Given the description of an element on the screen output the (x, y) to click on. 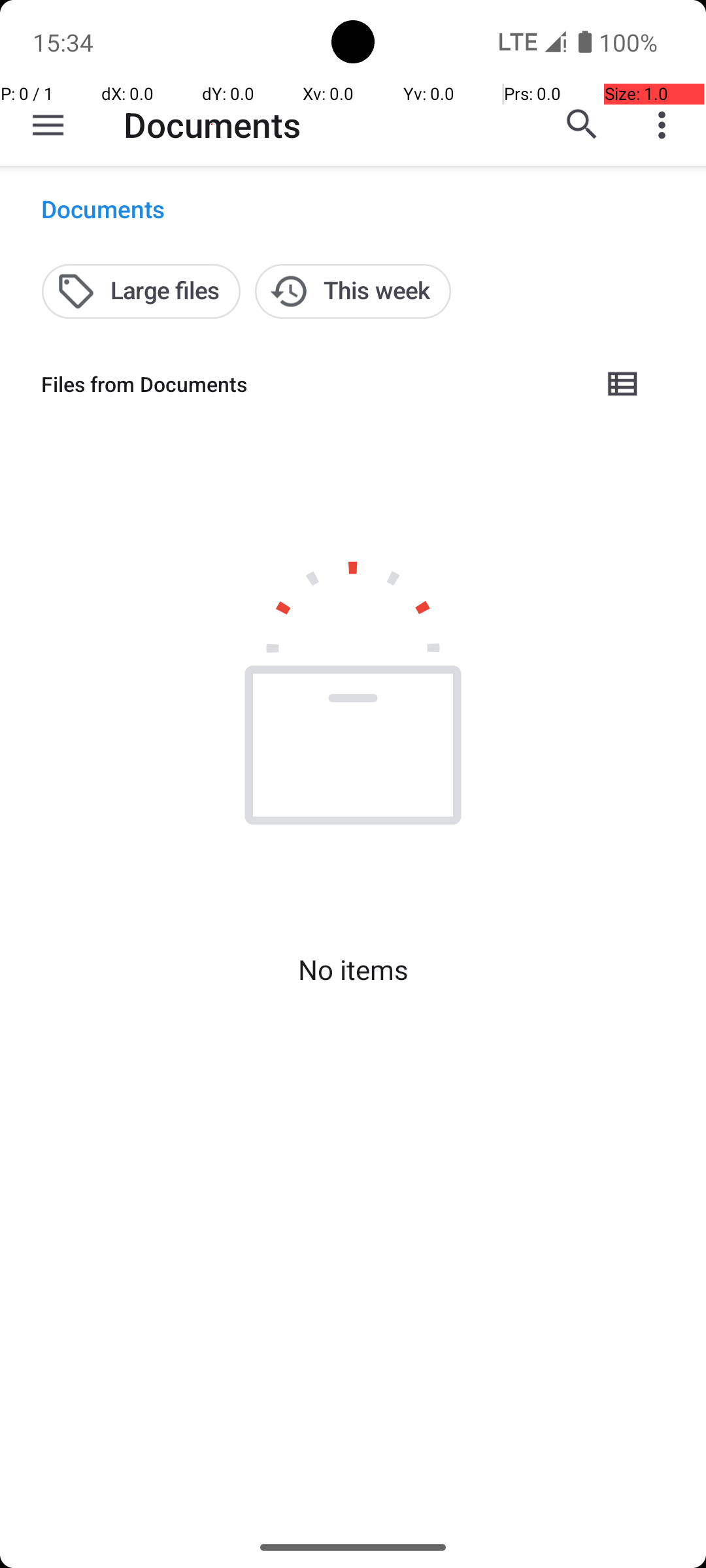
Files from Documents Element type: android.widget.TextView (311, 383)
